Given the description of an element on the screen output the (x, y) to click on. 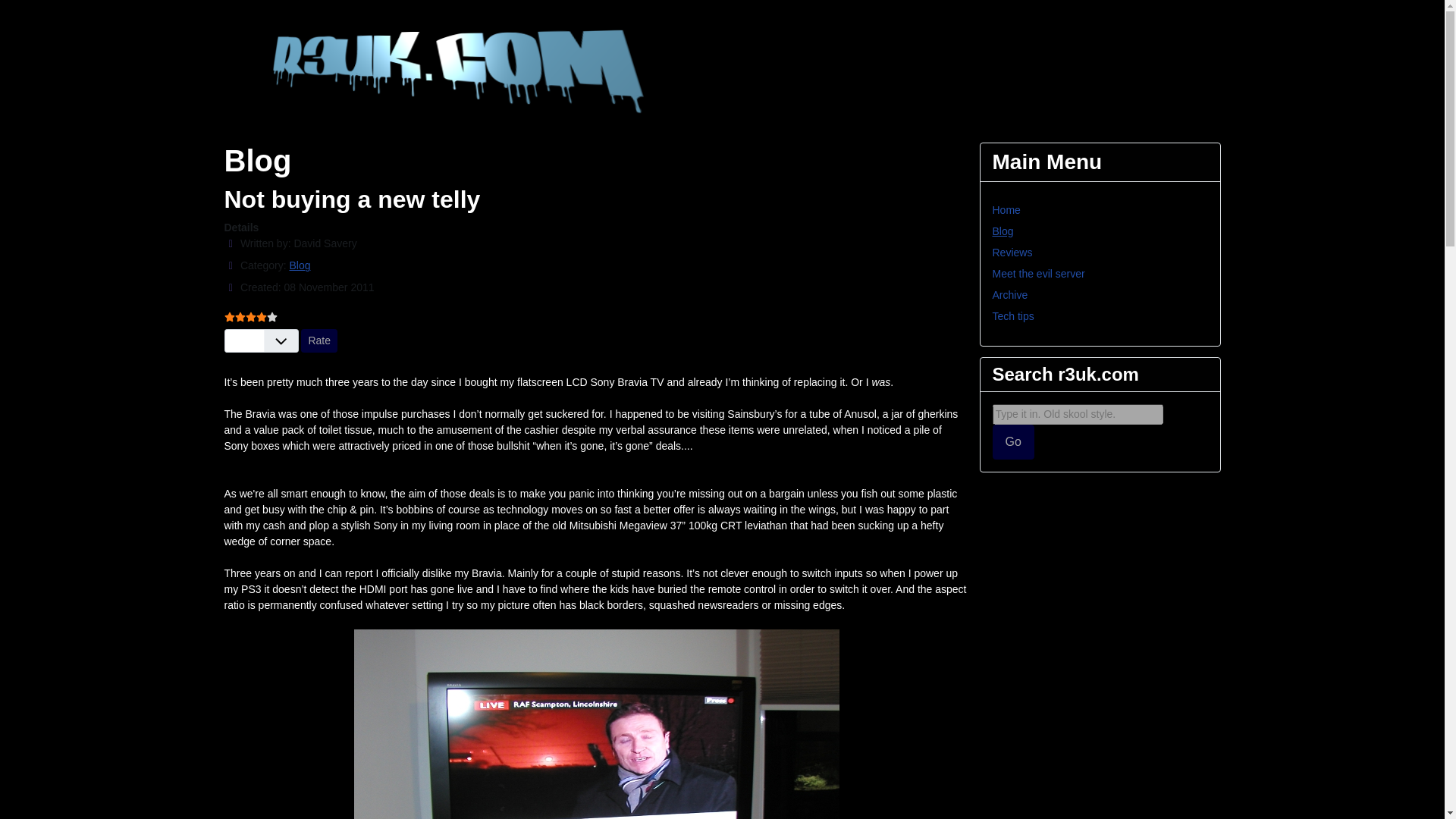
Blog (299, 265)
Meet the evil server (1037, 273)
Archive (1009, 295)
Go (1012, 441)
Blog (1002, 231)
Tech tips (1012, 316)
Reviews (1011, 252)
Rate (319, 340)
Rate (319, 340)
Home (1005, 209)
